Given the description of an element on the screen output the (x, y) to click on. 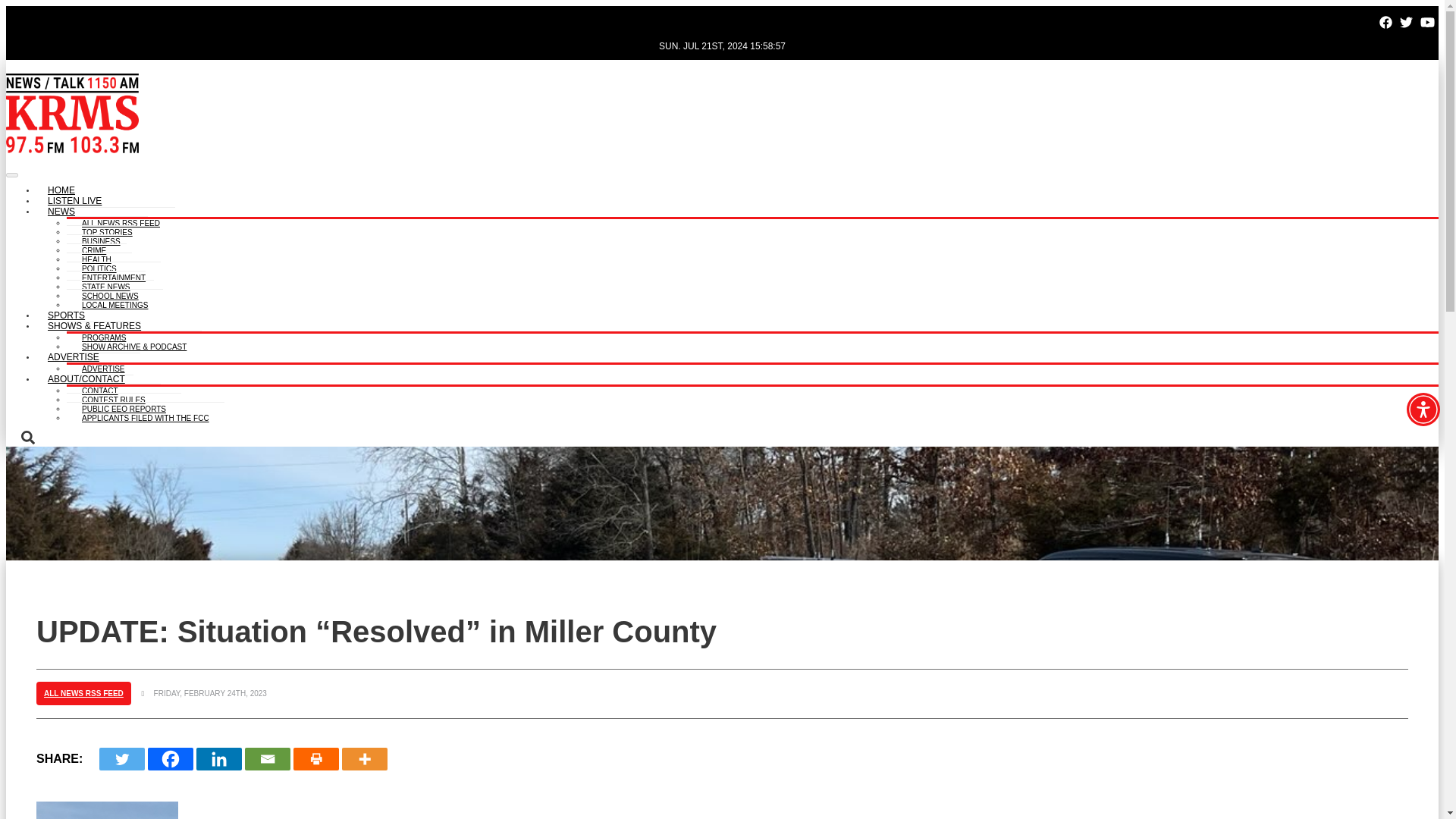
Listen Live (74, 201)
Entertainment (113, 275)
State News (105, 284)
APPLICANTS FILED WITH THE FCC (145, 415)
LISTEN LIVE (74, 201)
TOP STORIES (107, 230)
POLITICS (99, 266)
LOCAL MEETINGS (114, 302)
Business (100, 239)
PUBLIC EEO REPORTS (123, 406)
All News RSS Feed (120, 221)
Home (61, 191)
HOME (61, 191)
ALL NEWS RSS FEED (120, 221)
SPORTS (66, 315)
